Given the description of an element on the screen output the (x, y) to click on. 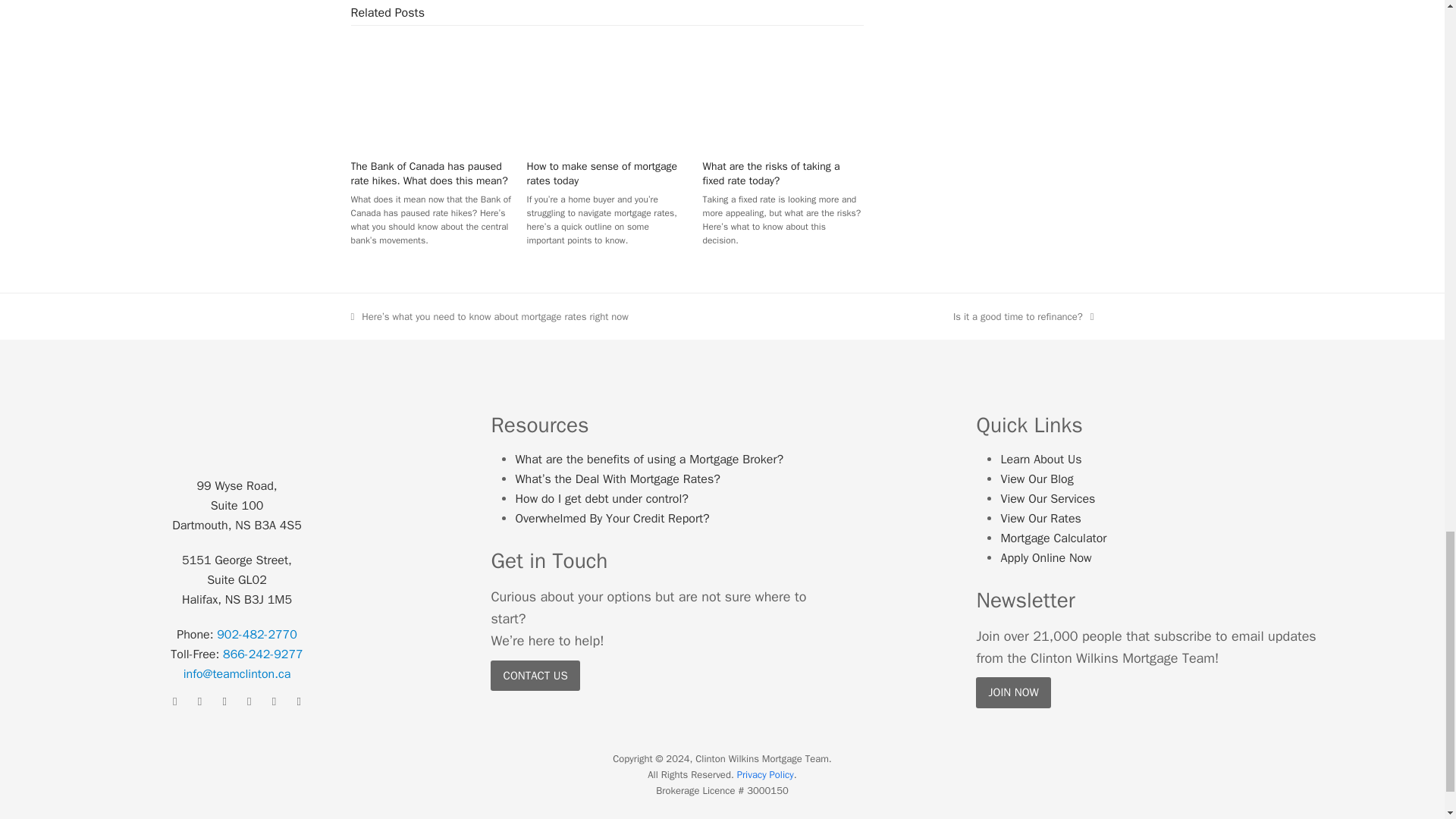
Tiktok (249, 701)
Facebook (175, 701)
How to make sense of mortgage rates today (602, 173)
What are the risks of taking a fixed rate today? (771, 173)
Twitter (224, 701)
How to make sense of mortgage rates today (607, 92)
YouTube (274, 701)
Instagram (200, 701)
What are the risks of taking a fixed rate today? (783, 92)
Spotify (298, 701)
